Given the description of an element on the screen output the (x, y) to click on. 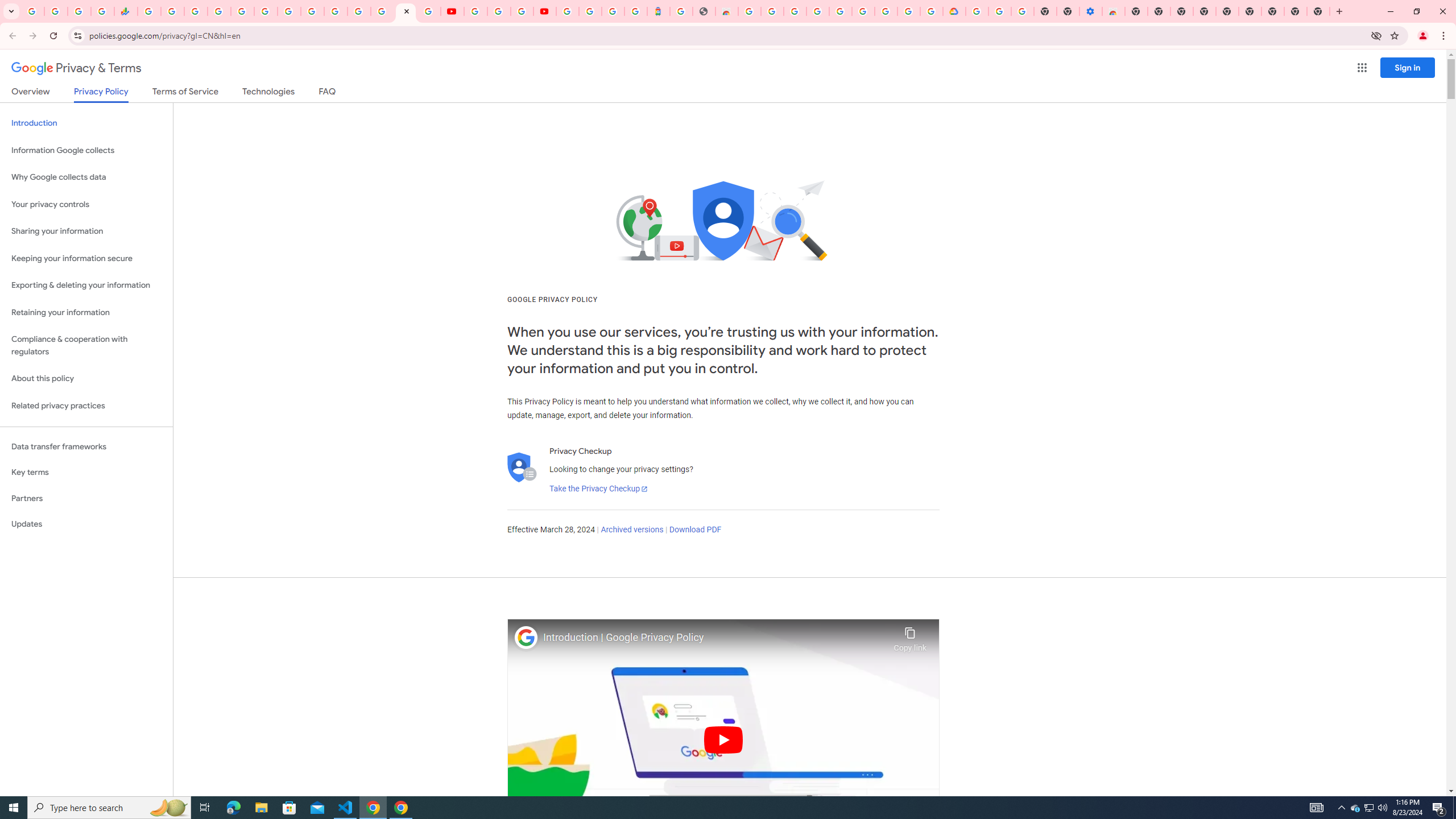
Sign in - Google Accounts (218, 11)
Sign in - Google Accounts (381, 11)
Create your Google Account (521, 11)
Browse the Google Chrome Community - Google Chrome Community (931, 11)
New Tab (1136, 11)
Sign in - Google Accounts (840, 11)
Sign in - Google Accounts (335, 11)
Archived versions (631, 529)
